Given the description of an element on the screen output the (x, y) to click on. 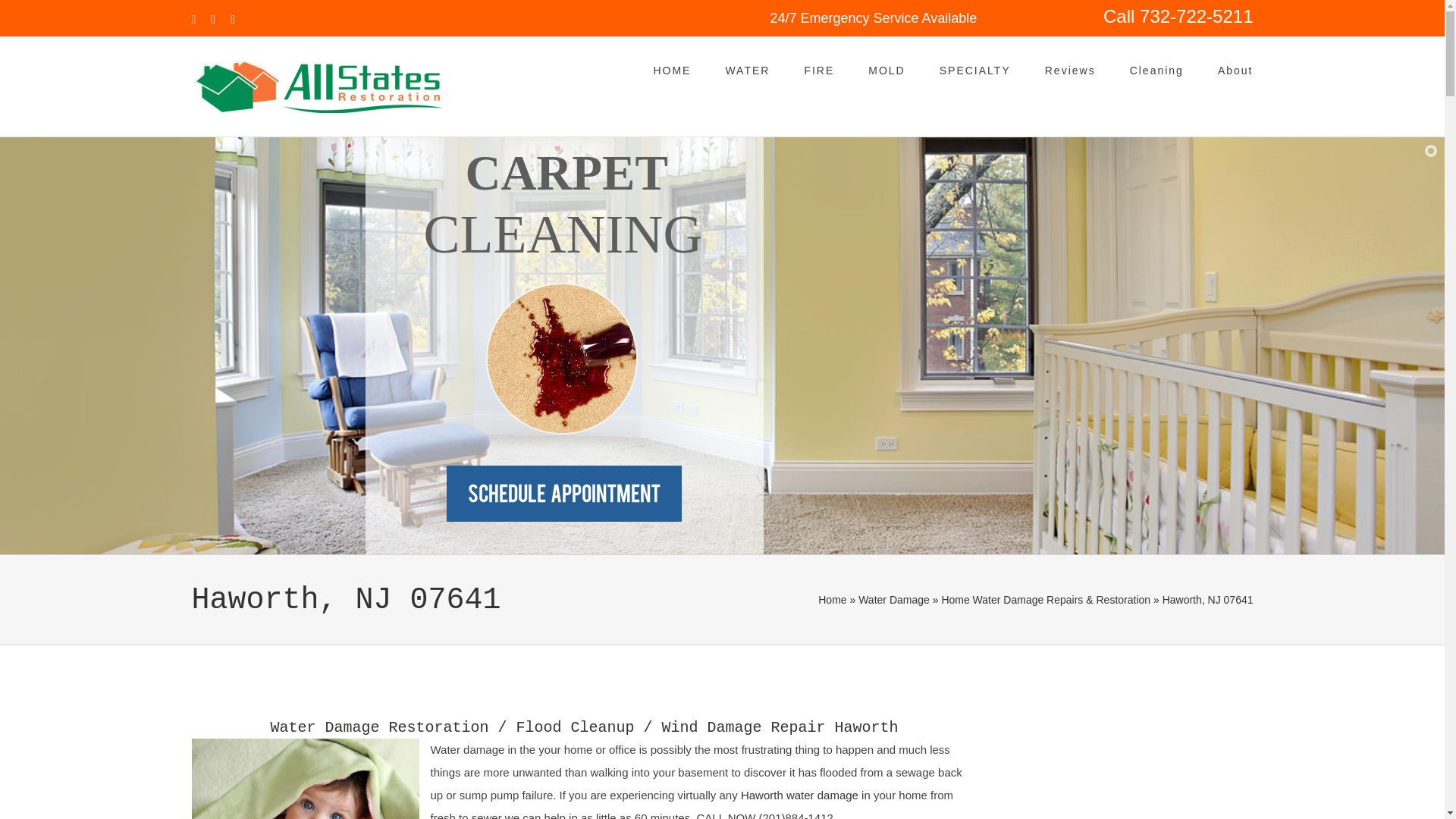
SPECIALTY (974, 68)
